Given the description of an element on the screen output the (x, y) to click on. 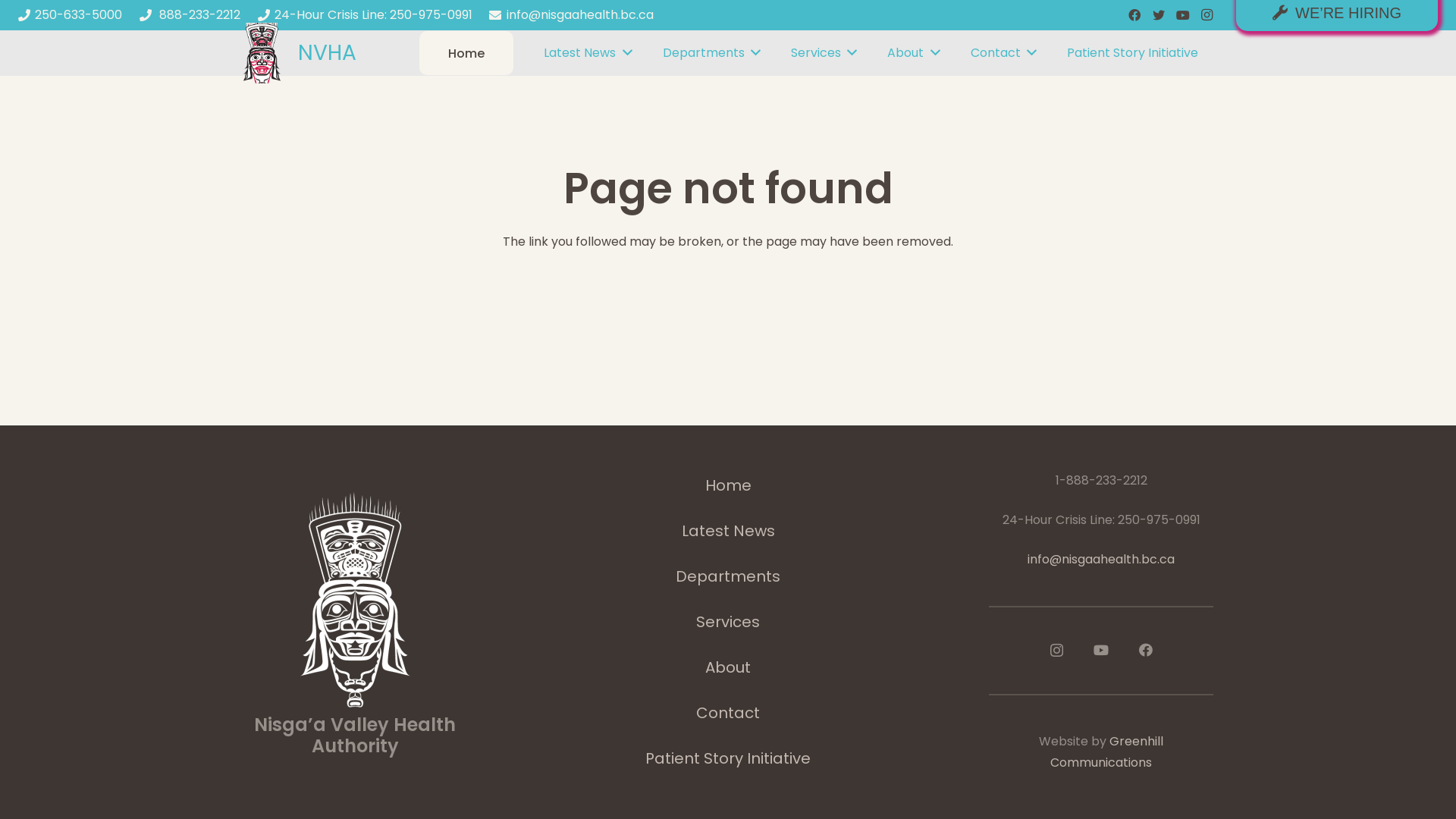
NVHA Element type: text (327, 52)
Latest News Element type: text (587, 52)
Contact Element type: text (1003, 52)
YouTube Element type: hover (1182, 15)
Services Element type: text (823, 52)
Departments Element type: text (711, 52)
info@nisgaahealth.bc.ca Element type: text (1100, 558)
Patient Story Initiative Element type: text (727, 757)
Departments Element type: text (727, 575)
Latest News Element type: text (727, 530)
Facebook Element type: hover (1145, 649)
Patient Story Initiative Element type: text (1132, 52)
Home Element type: text (728, 484)
About Element type: text (913, 52)
Facebook Element type: hover (1134, 15)
Twitter Element type: hover (1158, 15)
About Element type: text (727, 666)
Services Element type: text (727, 621)
Instagram Element type: hover (1055, 650)
info@nisgaahealth.bc.ca Element type: text (570, 14)
Greenhill Communications Element type: text (1106, 751)
Instagram Element type: hover (1207, 15)
Contact Element type: text (727, 712)
Home Element type: text (466, 53)
YouTube Element type: hover (1100, 649)
